Given the description of an element on the screen output the (x, y) to click on. 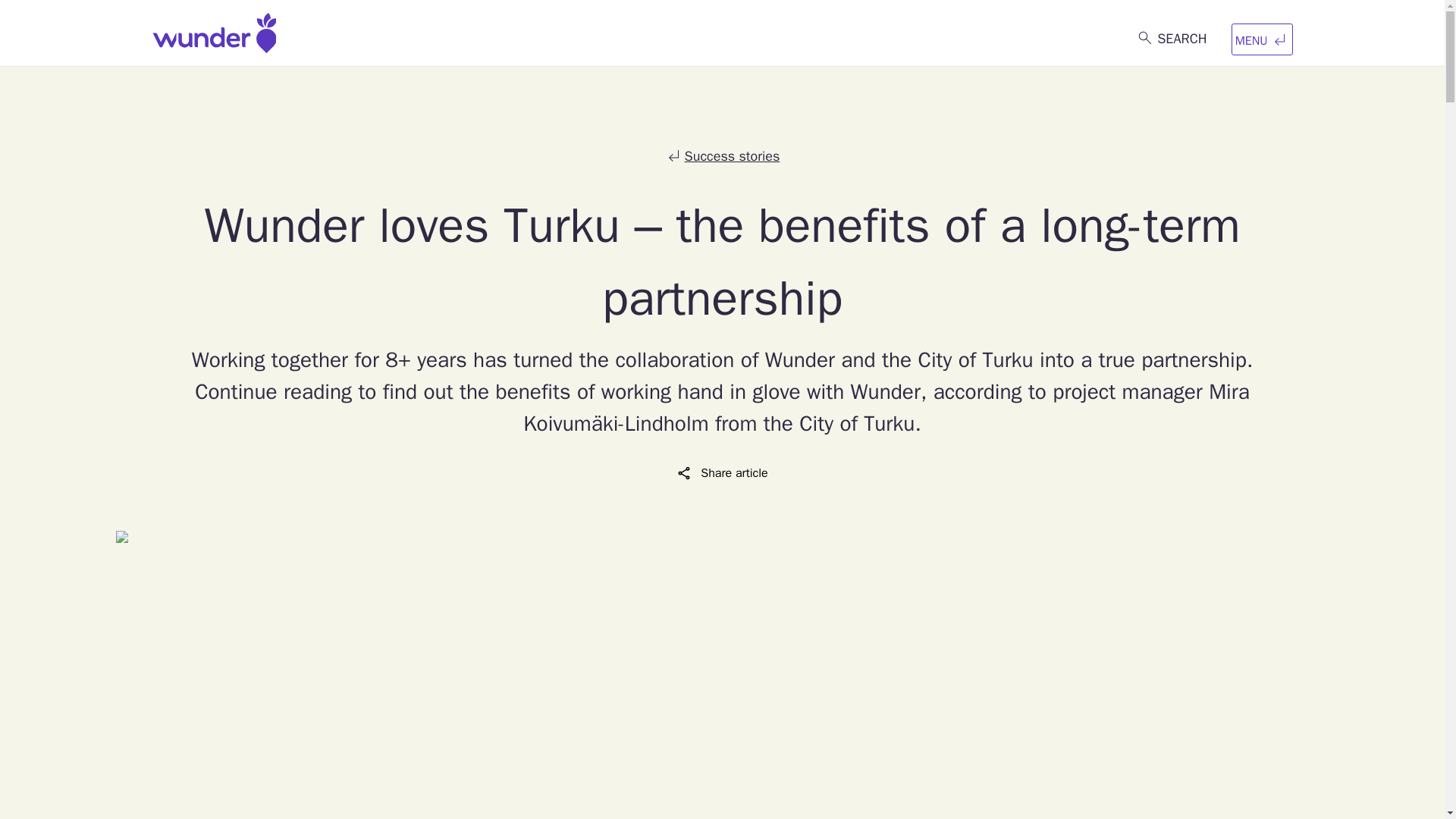
MENU (1261, 38)
SEARCH (1170, 39)
Homepage (213, 33)
Success stories (722, 156)
Share article (722, 473)
